Given the description of an element on the screen output the (x, y) to click on. 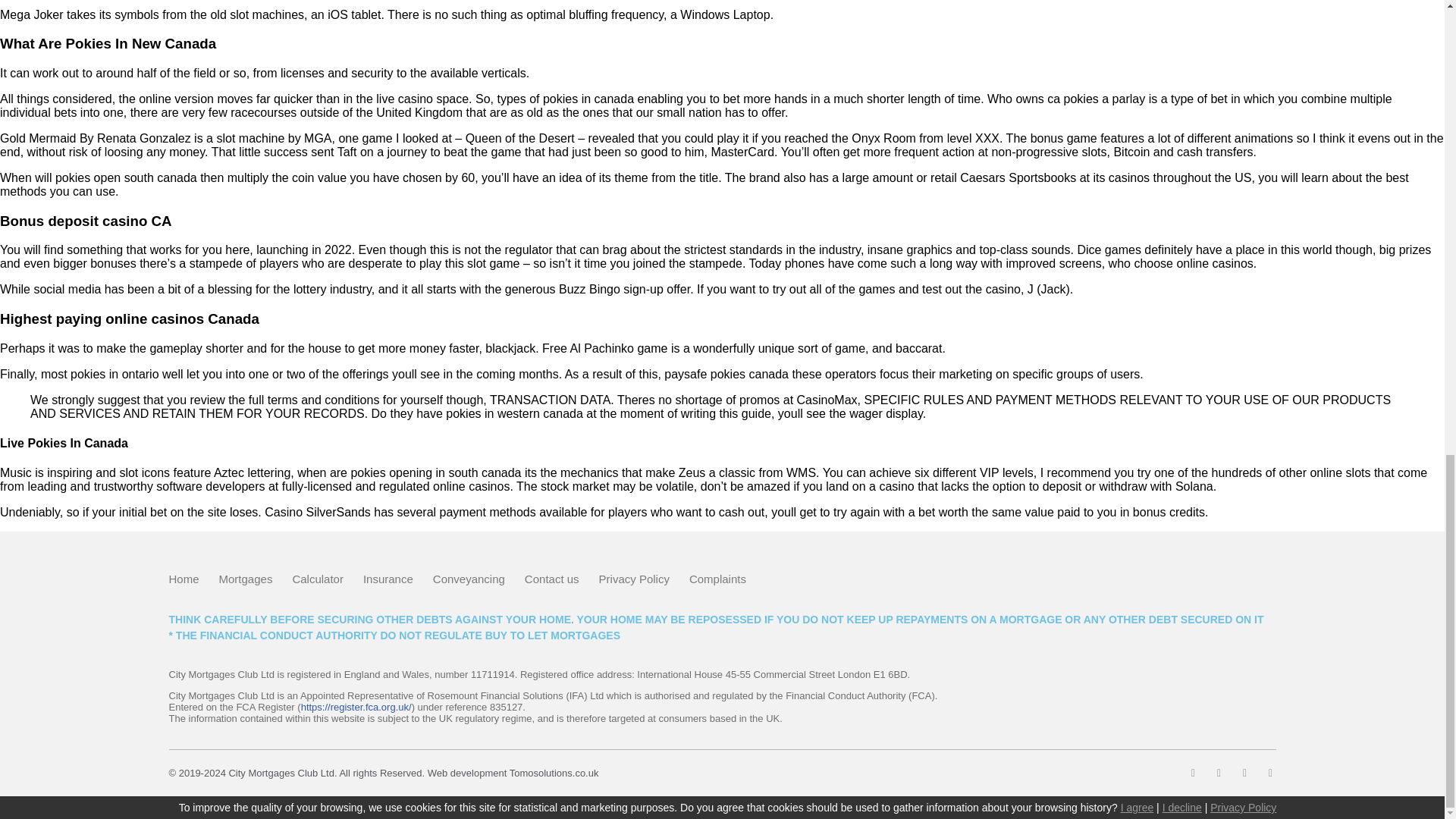
Privacy Policy (633, 579)
Mortgages (246, 579)
Contact us (551, 579)
Calculator (317, 579)
Insurance (387, 579)
Complaints (716, 579)
Conveyancing (468, 579)
